Given the description of an element on the screen output the (x, y) to click on. 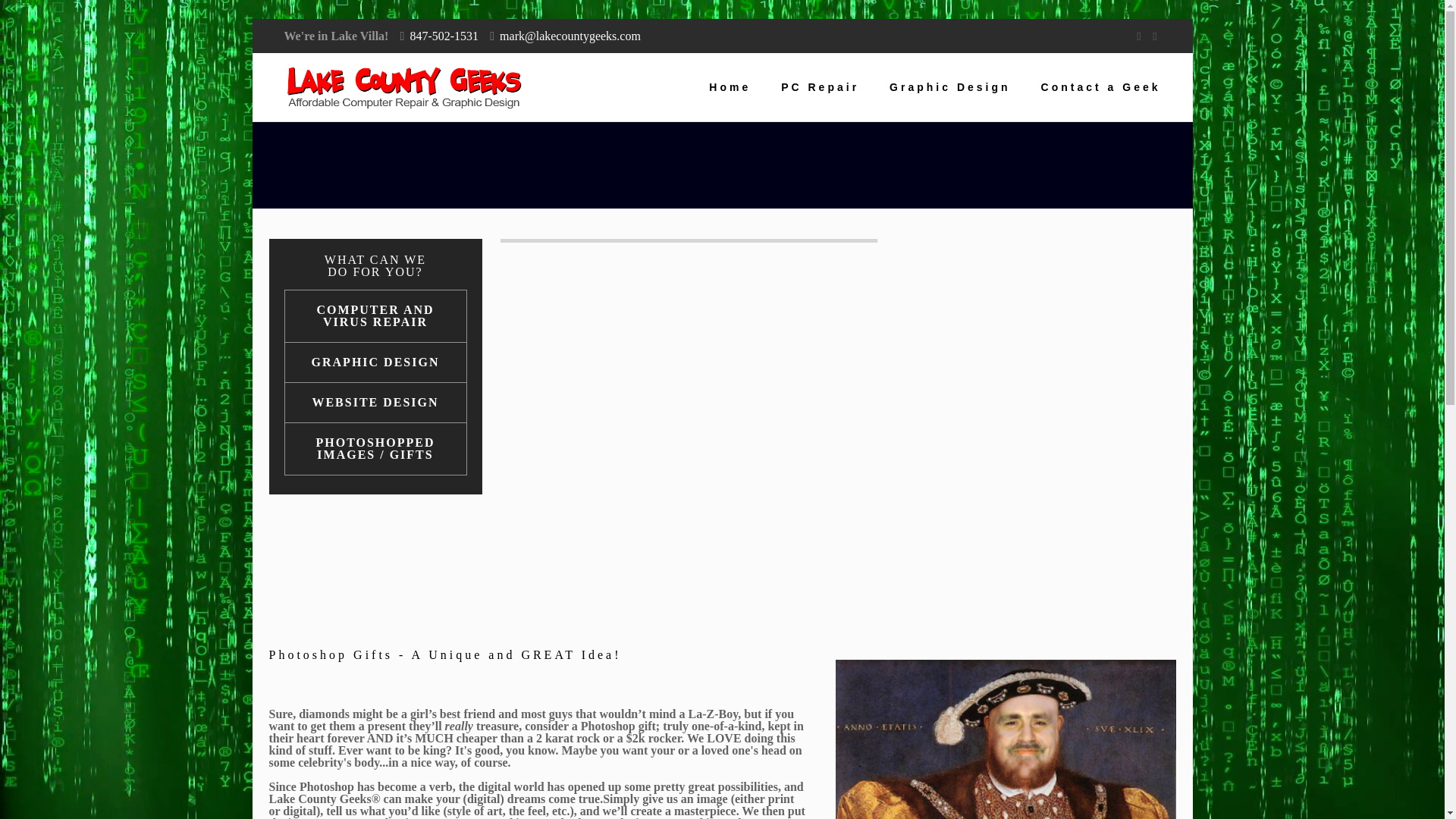
COMPUTER AND VIRUS REPAIR (375, 316)
PC Repair (820, 87)
Graphic Design (950, 87)
Contact a Geek (1101, 87)
LinkedIn (1155, 36)
WEBSITE DESIGN (375, 403)
Facebook (1138, 36)
847-502-1531 (444, 35)
Home (729, 87)
GRAPHIC DESIGN (375, 363)
